Given the description of an element on the screen output the (x, y) to click on. 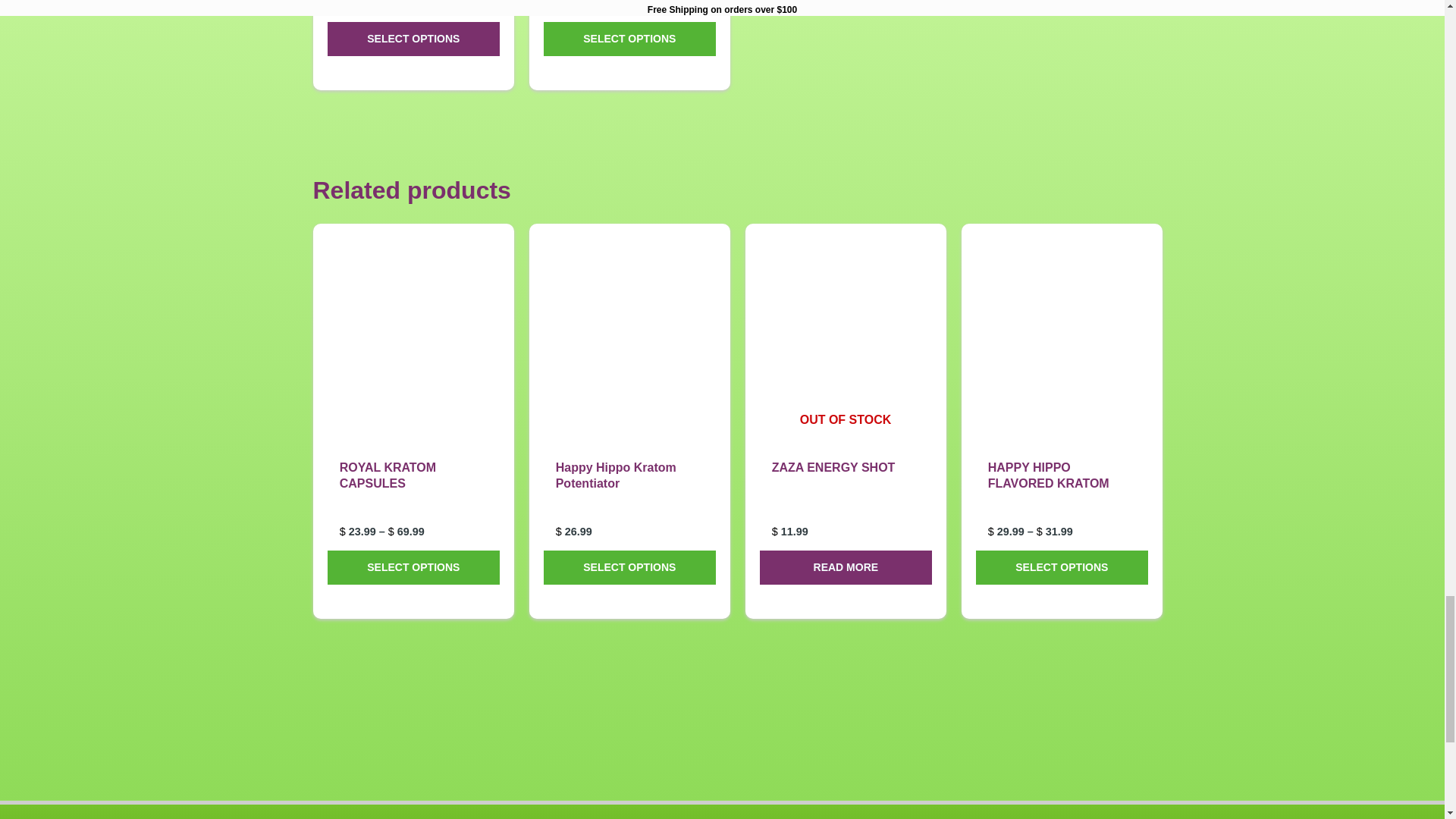
SELECT OPTIONS (629, 567)
READ MORE (845, 567)
HAPPY HIPPO FLAVORED KRATOM (1061, 488)
SELECT OPTIONS (413, 39)
SELECT OPTIONS (629, 39)
SELECT OPTIONS (413, 567)
ROYAL KRATOM CAPSULES (413, 488)
ZAZA ENERGY SHOT (845, 488)
Happy Hippo Kratom Potentiator (629, 488)
